Given the description of an element on the screen output the (x, y) to click on. 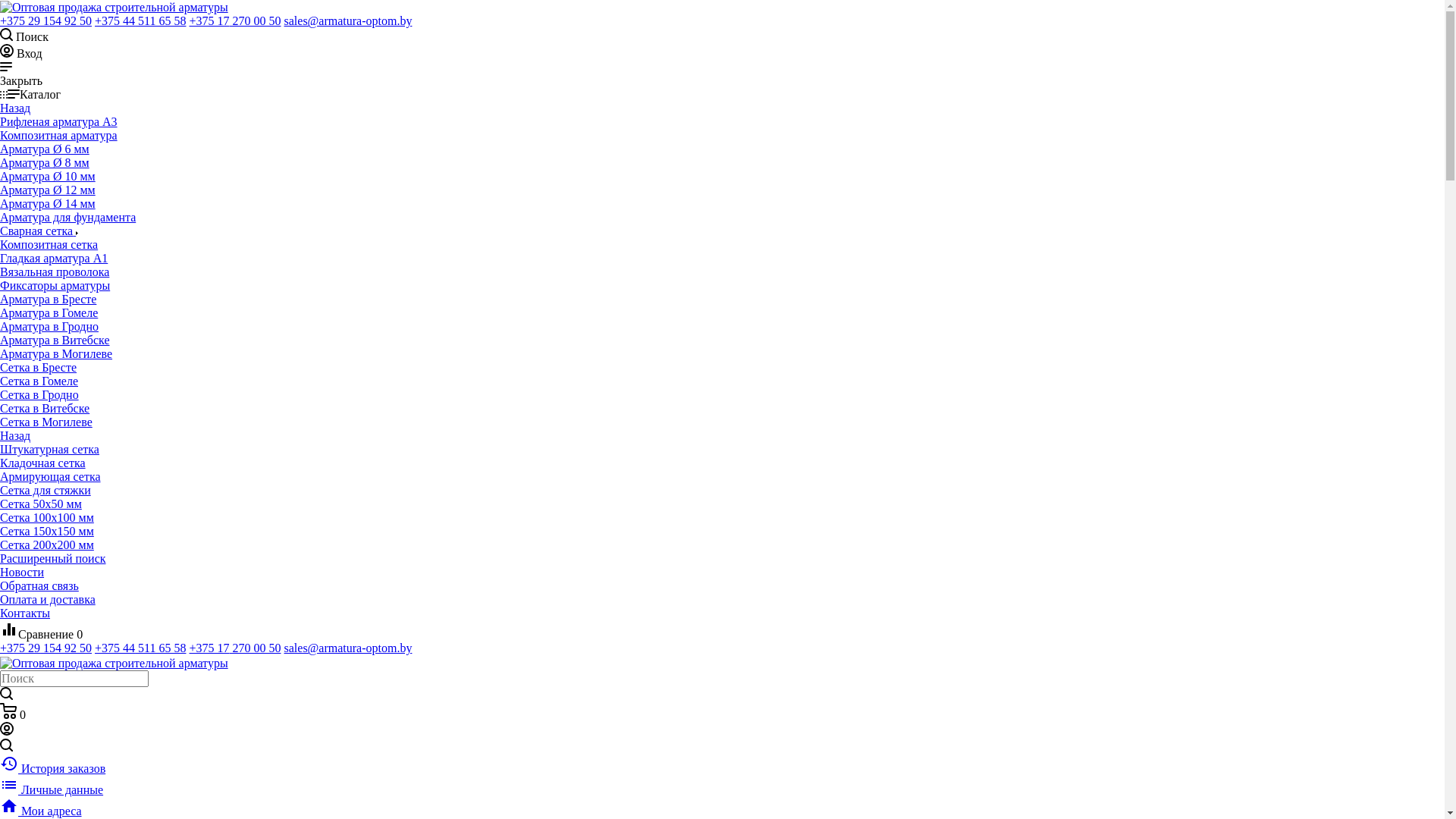
sales@armatura-optom.by Element type: text (347, 647)
+375 29 154 92 50 Element type: text (45, 647)
+375 17 270 00 50 Element type: text (234, 647)
+375 17 270 00 50 Element type: text (234, 20)
sales@armatura-optom.by Element type: text (347, 20)
+375 44 511 65 58 Element type: text (139, 20)
+375 44 511 65 58 Element type: text (139, 647)
+375 29 154 92 50 Element type: text (45, 20)
